Given the description of an element on the screen output the (x, y) to click on. 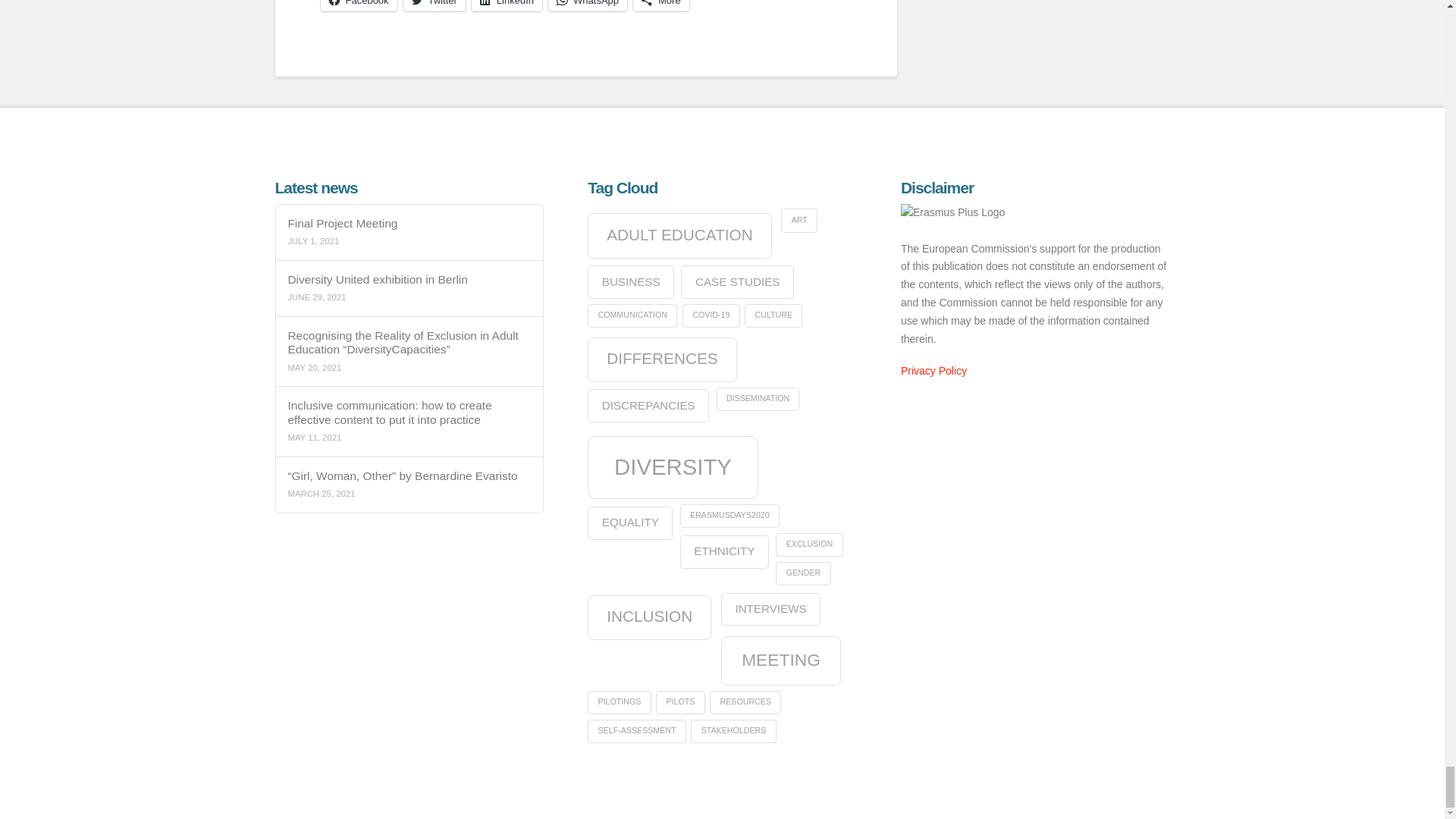
LinkedIn (506, 5)
WhatsApp (587, 5)
Click to share on LinkedIn (506, 5)
Click to share on Twitter (434, 5)
Click to share on WhatsApp (587, 5)
Click to share on Facebook (358, 5)
Facebook (358, 5)
More (660, 5)
Twitter (434, 5)
